Given the description of an element on the screen output the (x, y) to click on. 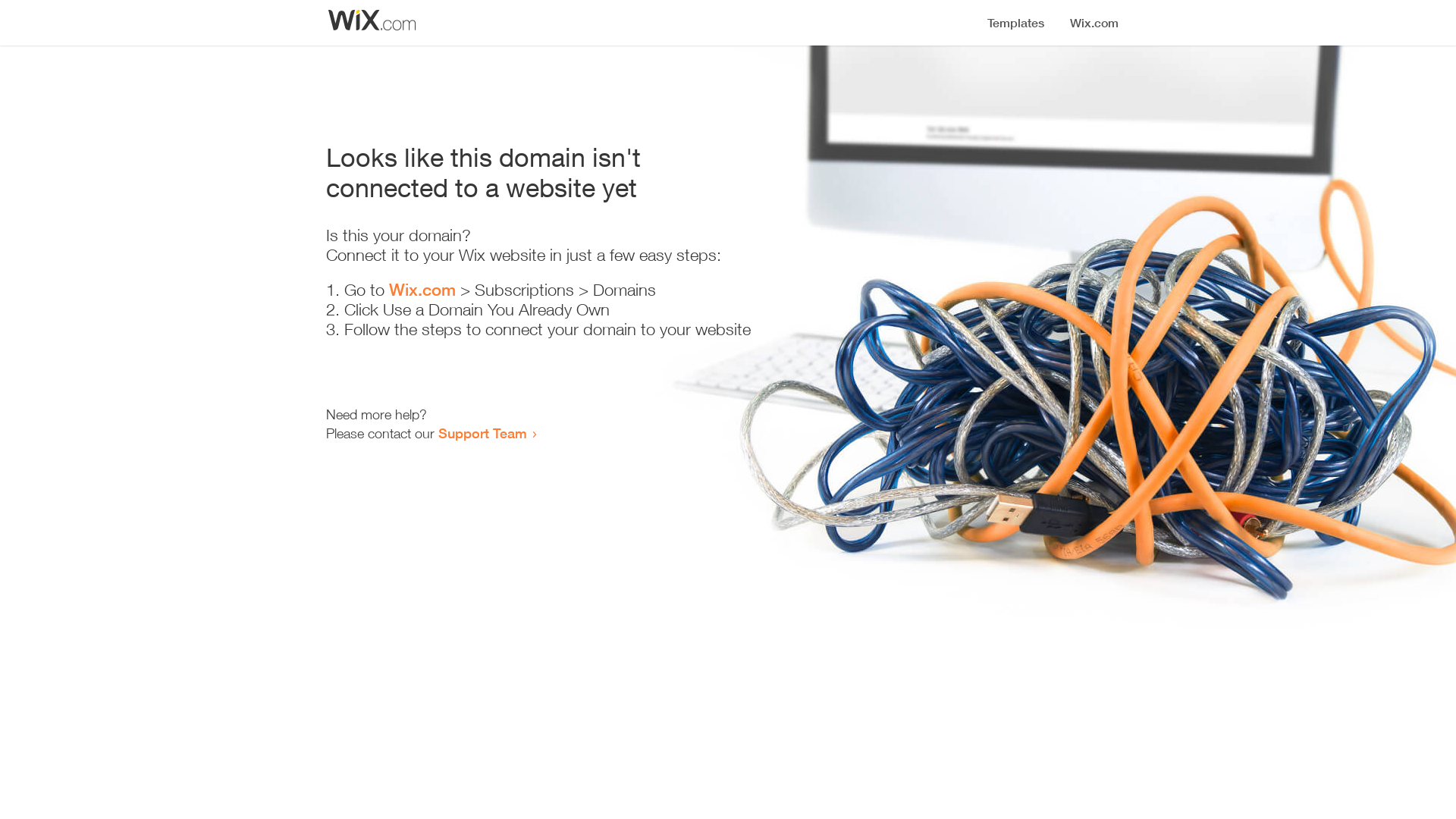
Support Team Element type: text (482, 432)
Wix.com Element type: text (422, 289)
